Given the description of an element on the screen output the (x, y) to click on. 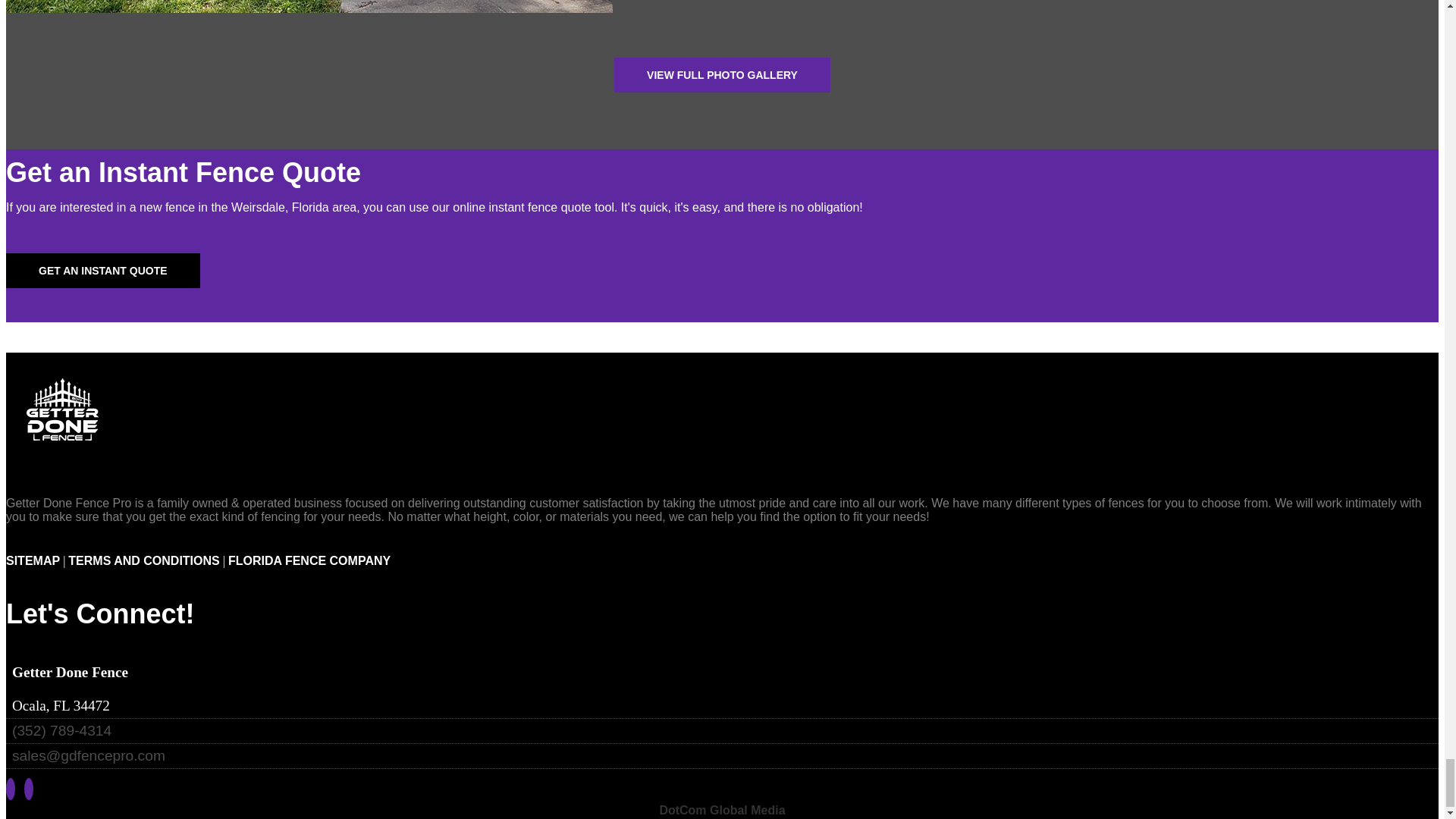
Weirsdale Florida Fence Project Photo (308, 23)
